Given the description of an element on the screen output the (x, y) to click on. 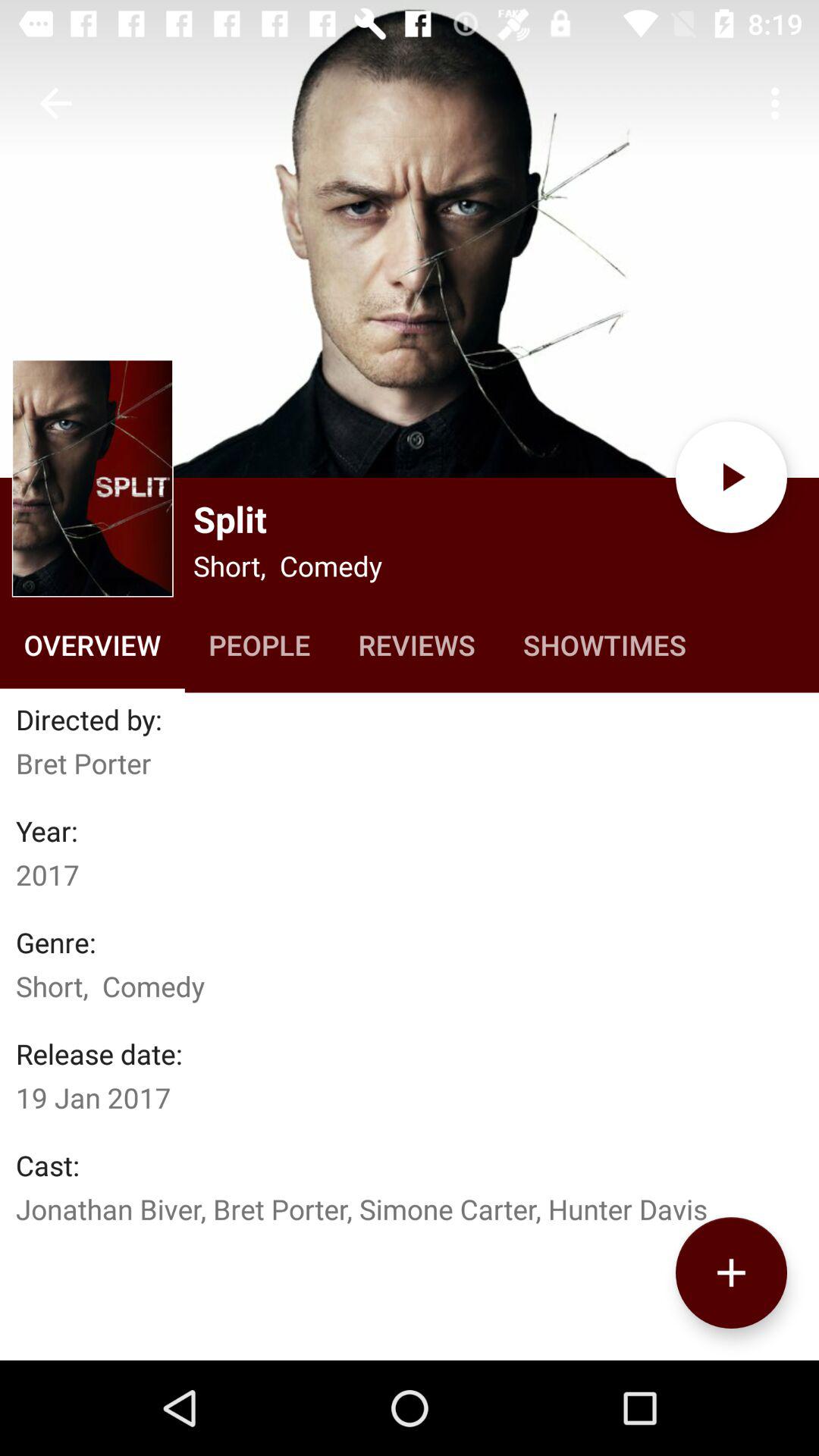
add to play (731, 1272)
